Given the description of an element on the screen output the (x, y) to click on. 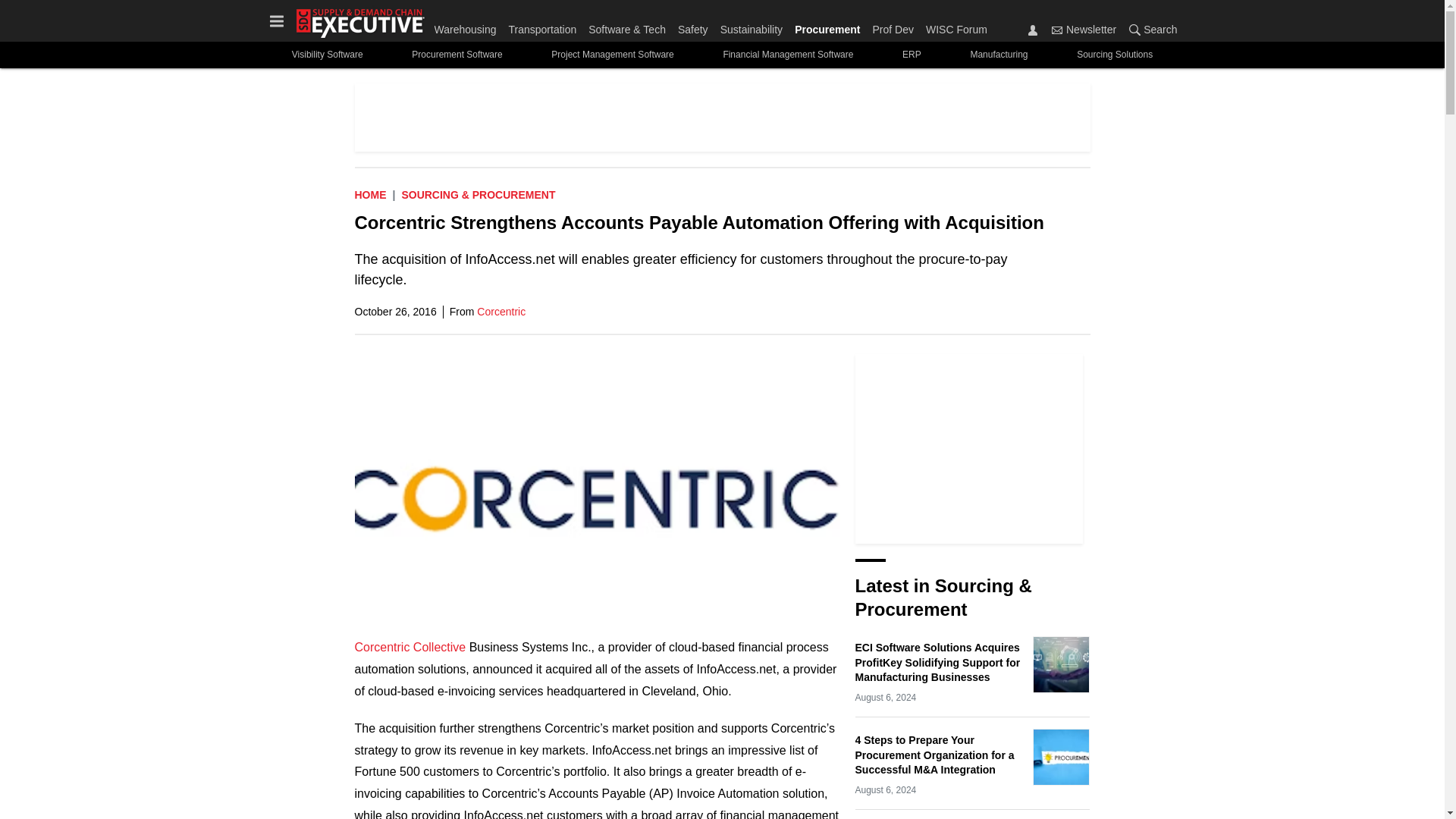
Search (1149, 29)
Sustainability (751, 26)
Warehousing (467, 26)
Newsletter (1083, 29)
ERP (911, 54)
Sourcing Solutions (1115, 54)
Procurement Software (457, 54)
Search (1134, 29)
Transportation (542, 26)
Newsletter (1056, 29)
WISC Forum (953, 26)
3rd party ad content (969, 448)
Project Management Software (612, 54)
3rd party ad content (722, 117)
Visibility Software (326, 54)
